Given the description of an element on the screen output the (x, y) to click on. 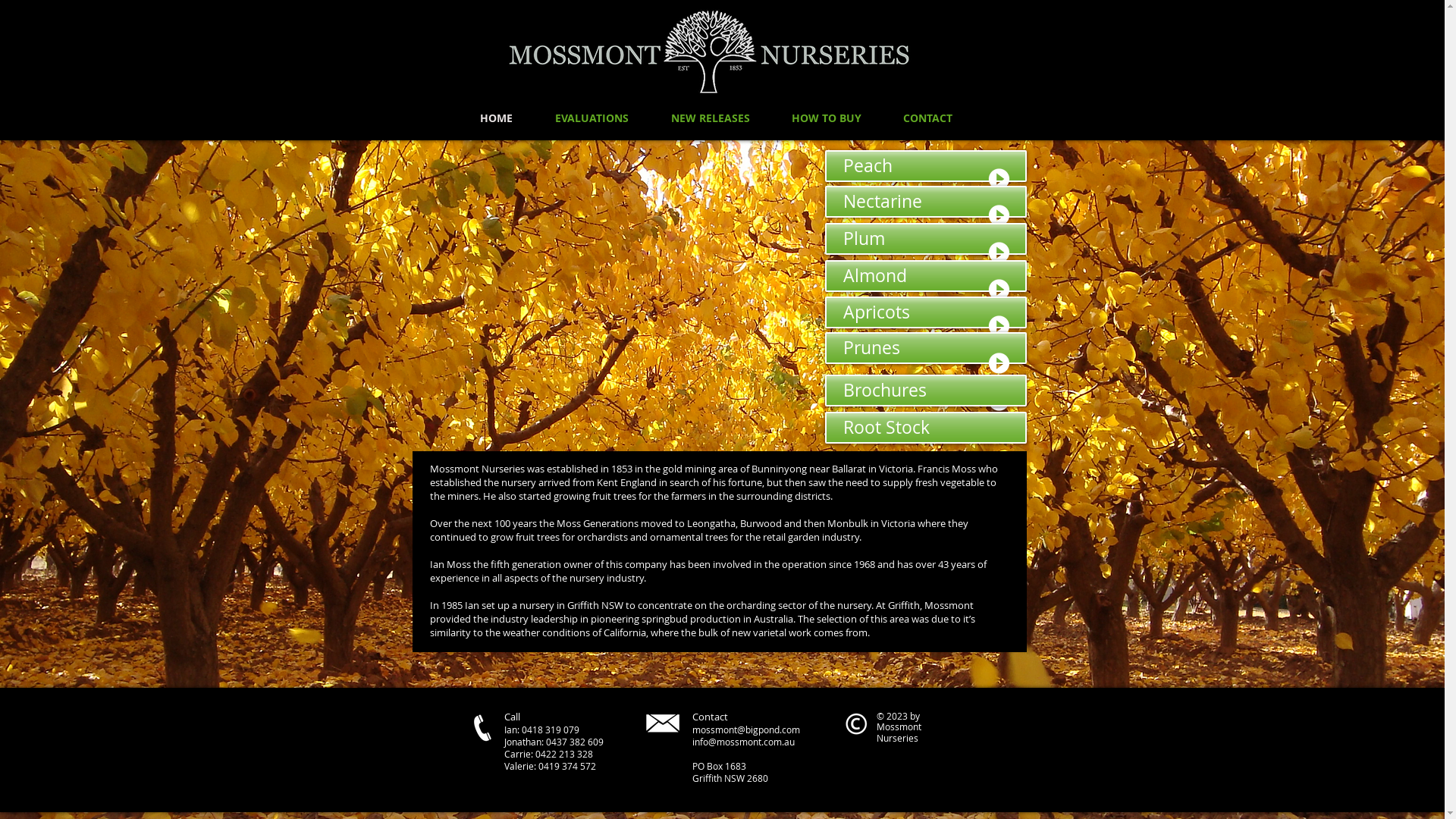
Root Stock Element type: text (925, 427)
Peach Element type: text (925, 166)
HOME Element type: text (495, 117)
Almond Element type: text (925, 275)
Brochures Element type: text (925, 390)
Apricots Element type: text (925, 312)
Plum Element type: text (925, 238)
CONTACT Element type: text (927, 117)
EVALUATIONS Element type: text (591, 117)
External YouTube Element type: hover (614, 289)
Prunes Element type: text (925, 348)
NEW RELEASES Element type: text (709, 117)
info@mossmont.com.au Element type: text (742, 741)
Nectarine Element type: text (925, 201)
HOW TO BUY Element type: text (825, 117)
mossmont@bigpond.com Element type: text (745, 729)
